Given the description of an element on the screen output the (x, y) to click on. 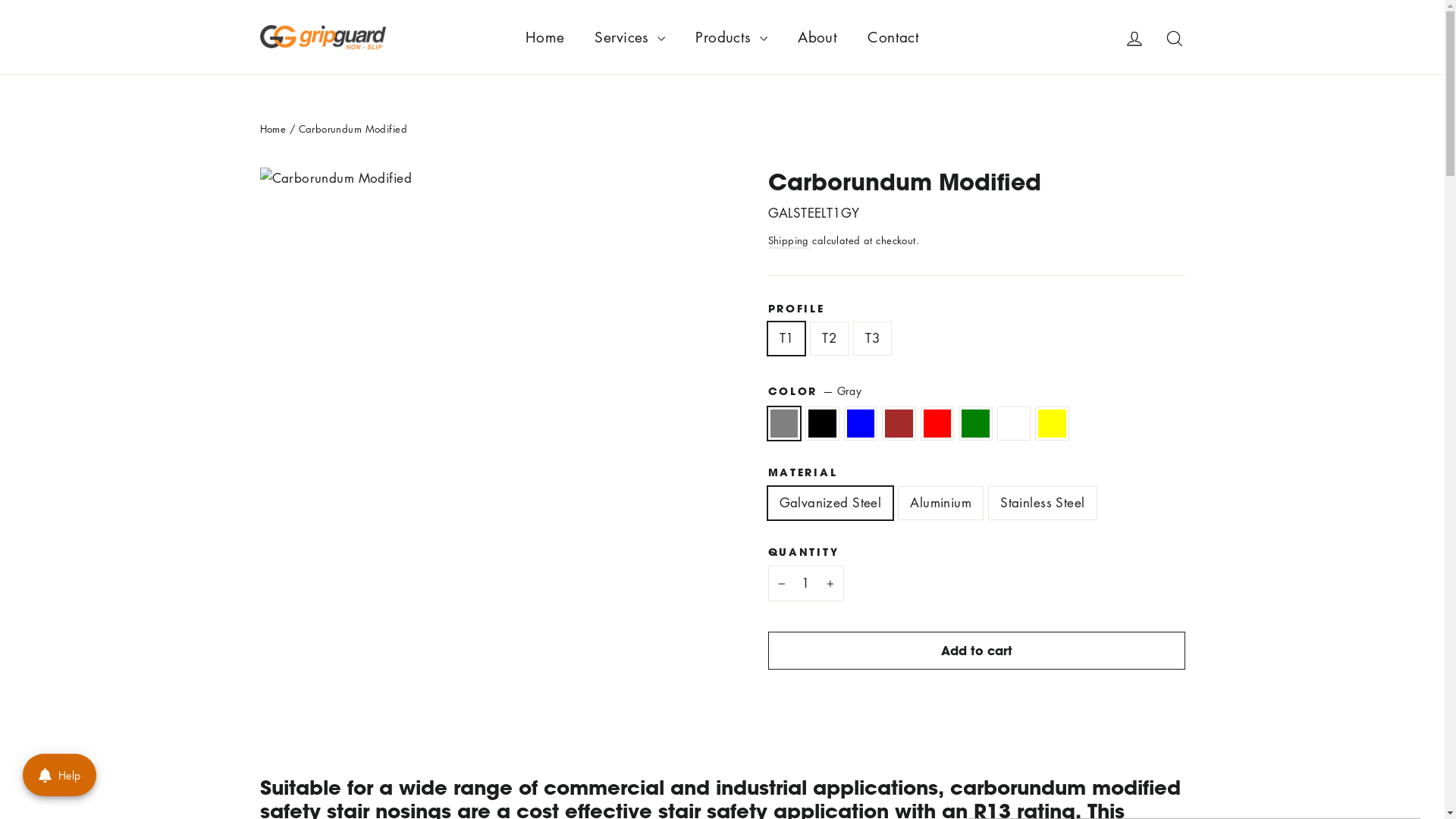
Services Element type: text (629, 36)
Home Element type: text (272, 128)
Contact Element type: text (893, 36)
Products Element type: text (731, 36)
+ Element type: text (832, 583)
Help Element type: text (59, 774)
Home Element type: text (545, 36)
Search Element type: text (1173, 36)
About Element type: text (817, 36)
Shipping Element type: text (787, 240)
Add to cart Element type: text (975, 650)
Log in Element type: text (1134, 36)
Skip to content Element type: text (0, 0)
